Given the description of an element on the screen output the (x, y) to click on. 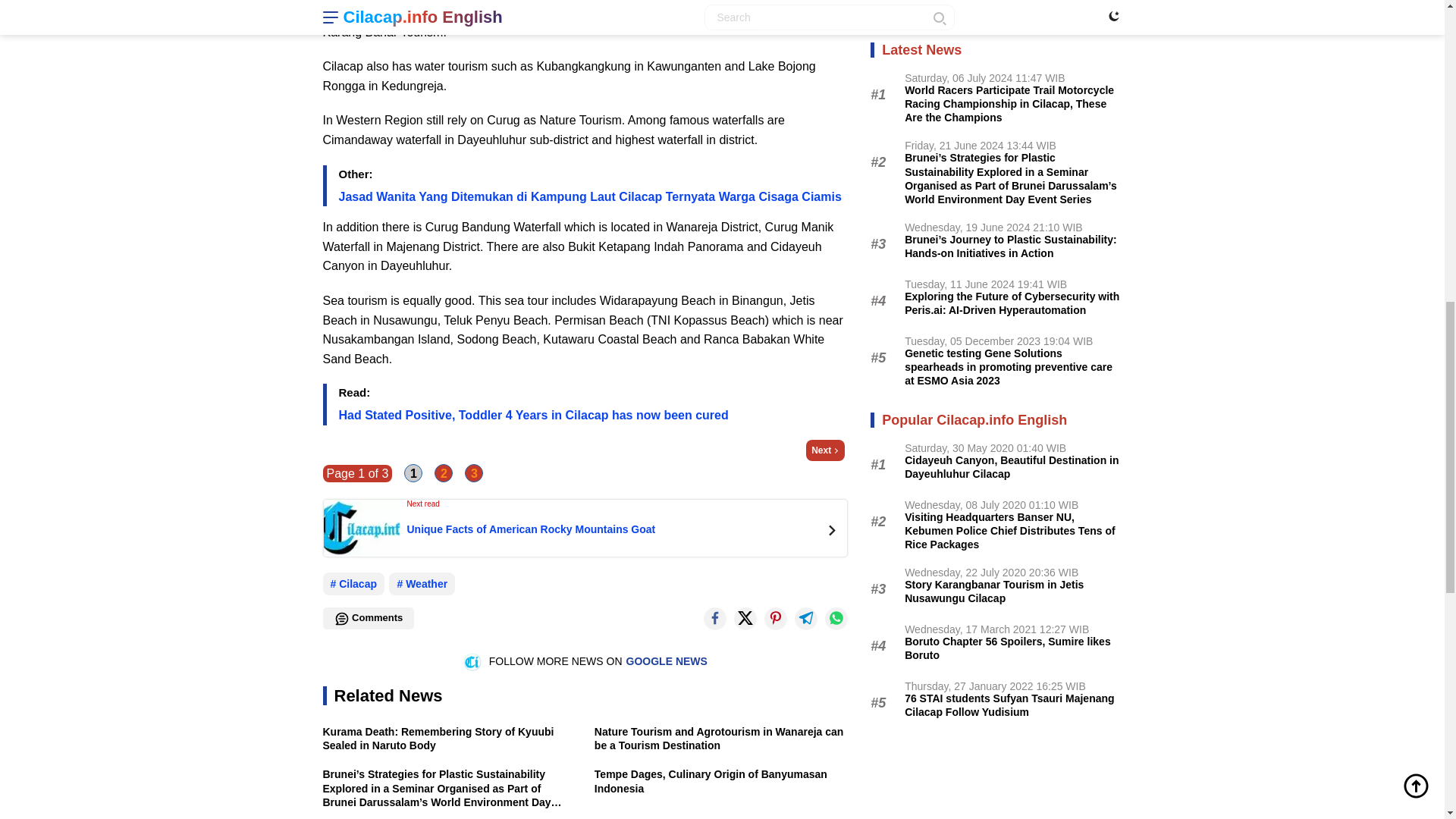
3 (473, 473)
GOOGLE NEWS (666, 661)
Weather (421, 583)
Comments (368, 618)
Next (825, 450)
Cilacap (354, 583)
2 (442, 473)
